Given the description of an element on the screen output the (x, y) to click on. 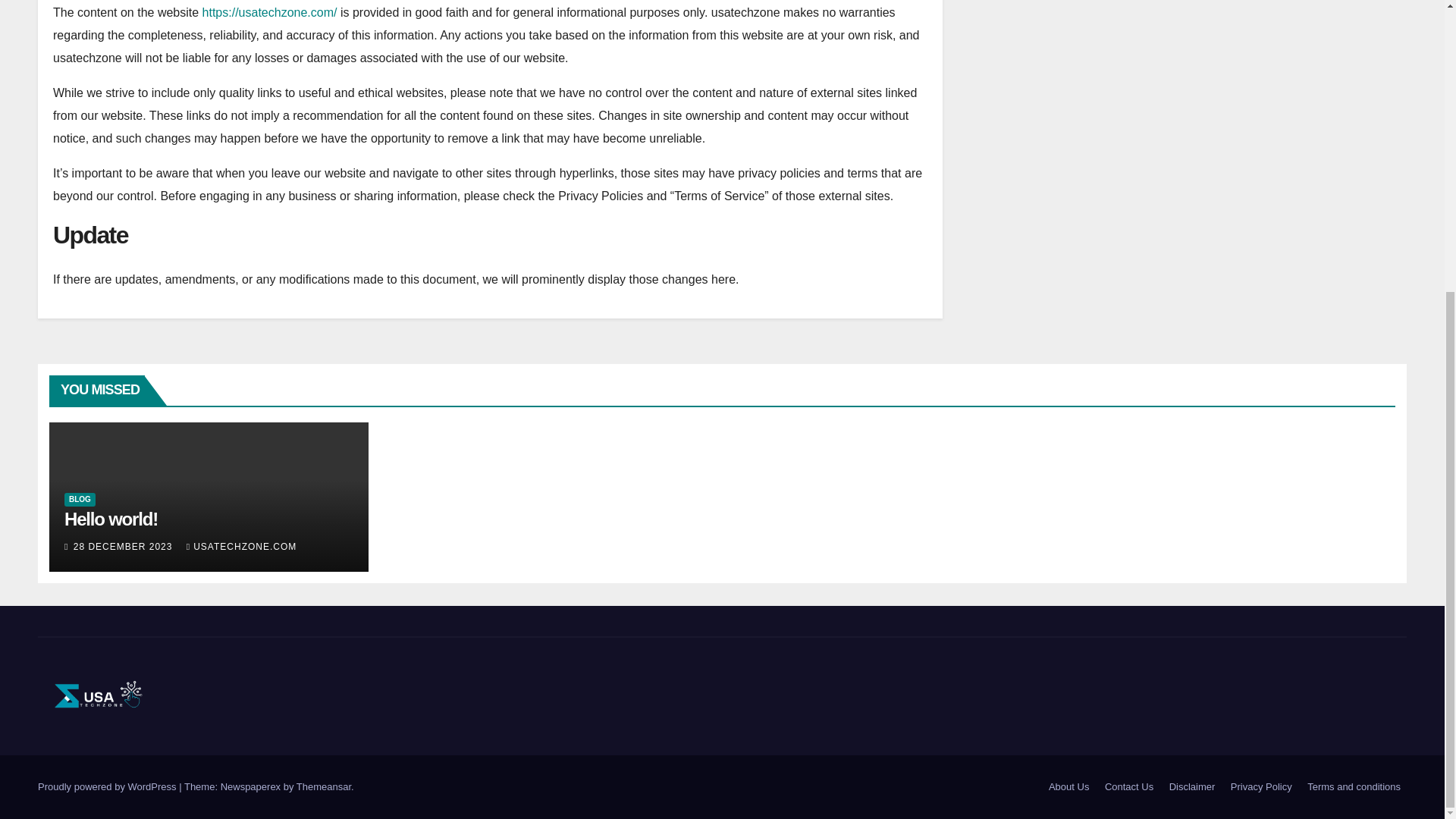
Permalink to: Hello world! (110, 518)
BLOG (80, 499)
USATECHZONE.COM (241, 546)
Hello world! (110, 518)
28 DECEMBER 2023 (125, 546)
